Given the description of an element on the screen output the (x, y) to click on. 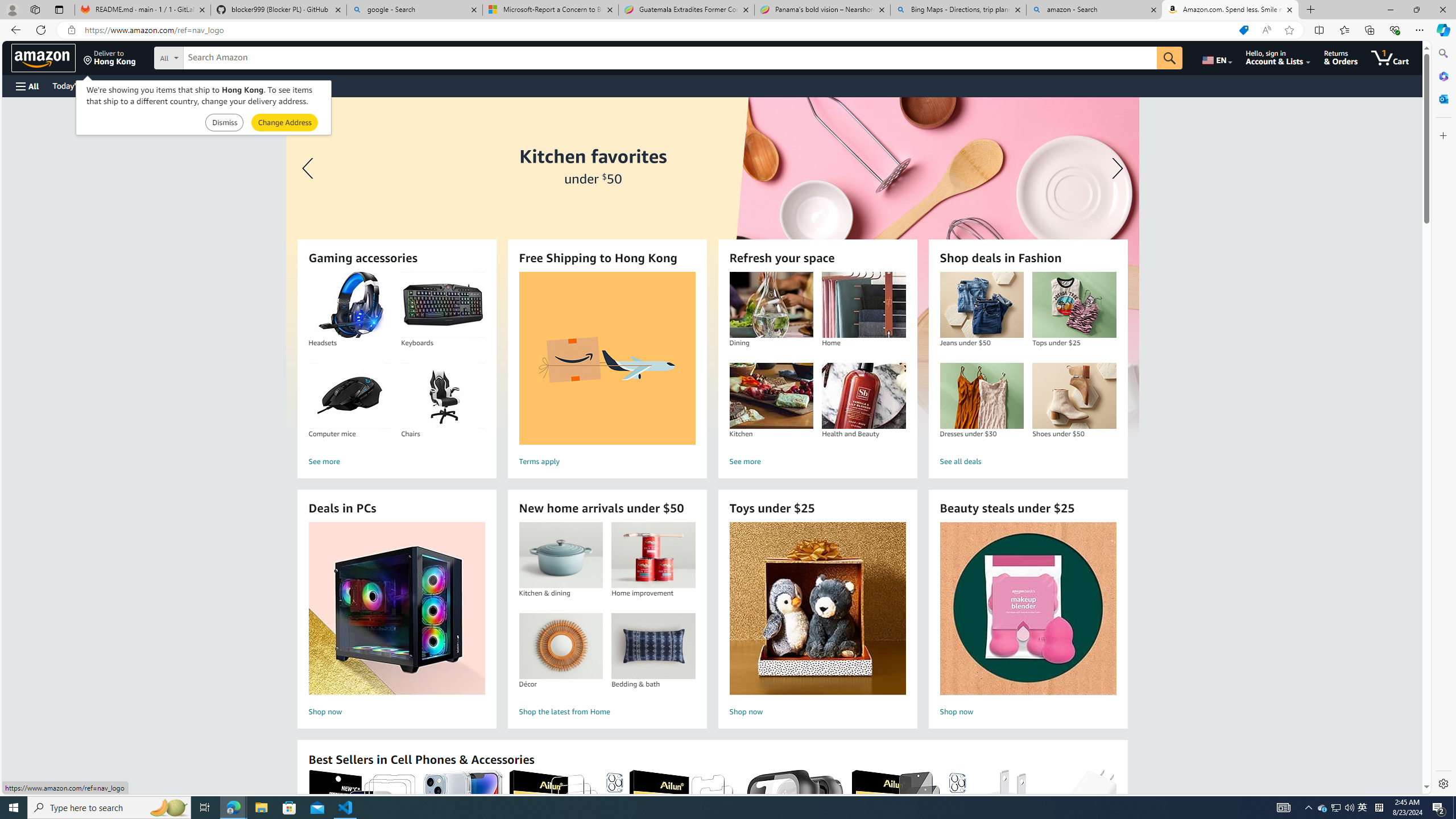
Amazon (43, 57)
Submit (284, 122)
Beauty steals under $25 (1027, 608)
Health and Beauty (863, 395)
Tops under $25 (1074, 304)
google - Search (414, 9)
Choose a language for shopping. (1216, 57)
Customize (1442, 135)
Shop Kitchen favorites (711, 267)
Personal Profile (12, 9)
